Given the description of an element on the screen output the (x, y) to click on. 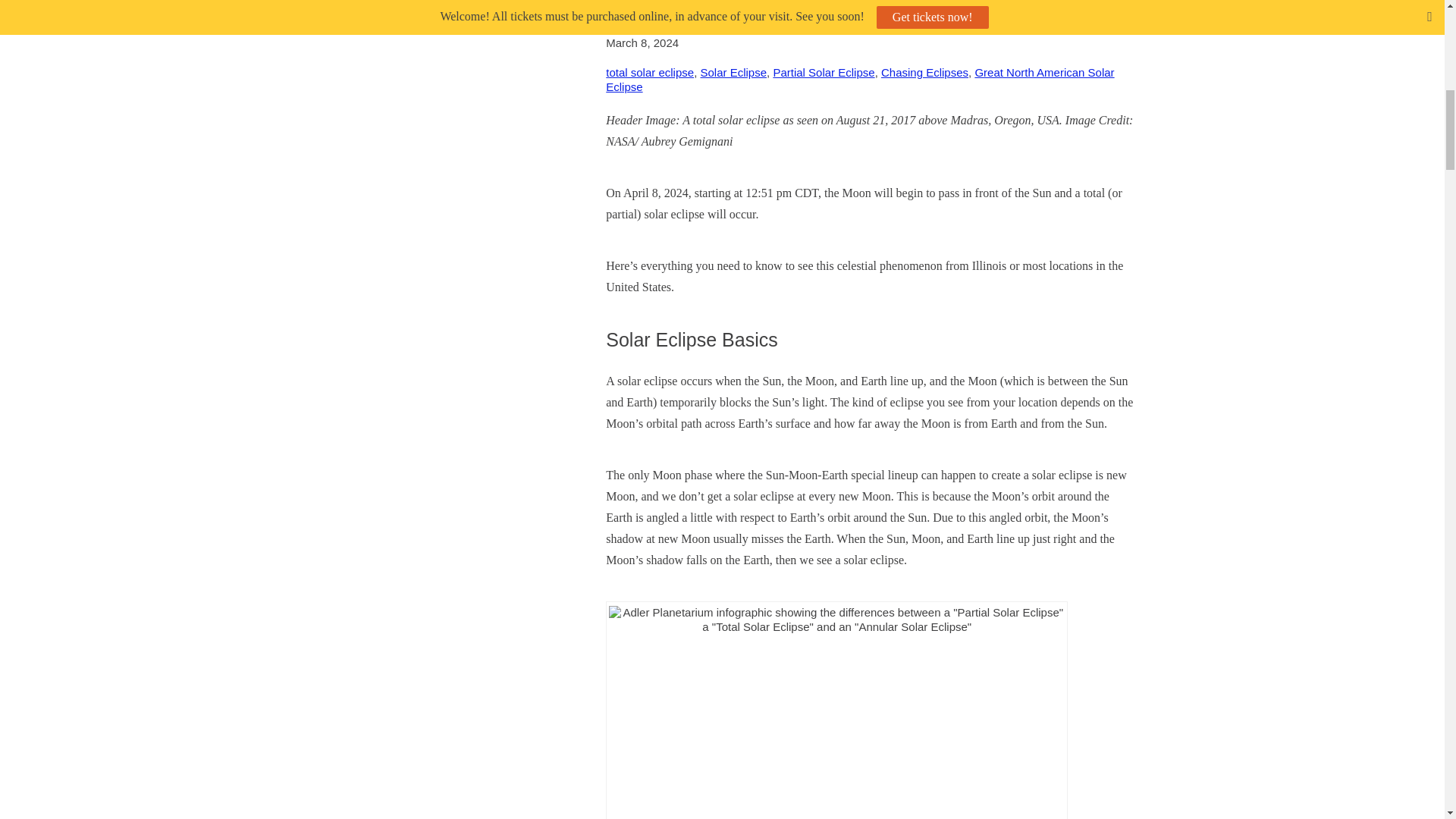
Board of Trustees (1339, 477)
Kids and Family (1339, 119)
Volunteers (1339, 528)
Zooniverse (1339, 324)
LEARN (1339, 45)
Teens (1339, 153)
Research (1339, 289)
Educator Hub (1339, 187)
Community of Stargazers (1339, 580)
Ask Adler Astronomers (1340, 697)
Far Horizons (1339, 255)
Donate (1339, 426)
Sky Observing (1339, 221)
All Ages (1339, 84)
SUPPORT (1339, 386)
